Given the description of an element on the screen output the (x, y) to click on. 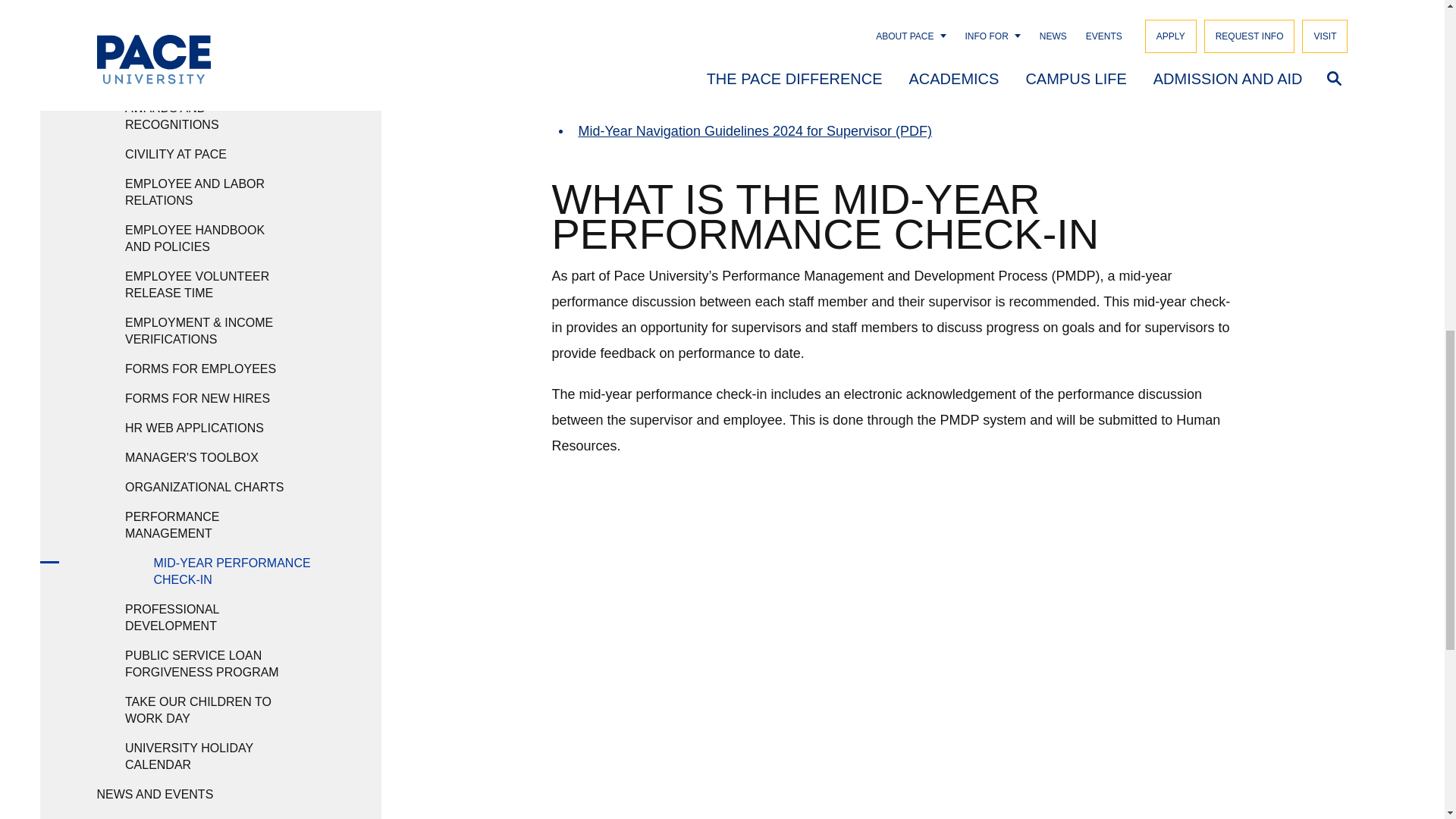
hr-mid-year-check-in-navigation-guidelines-supervisor.pdf (754, 130)
hr-mid-year-check-in-navigation-guidelines-employee.pdf (752, 89)
hr-guidelines-for-the-mid-year-performance-discussion.pdf (756, 48)
